Given the description of an element on the screen output the (x, y) to click on. 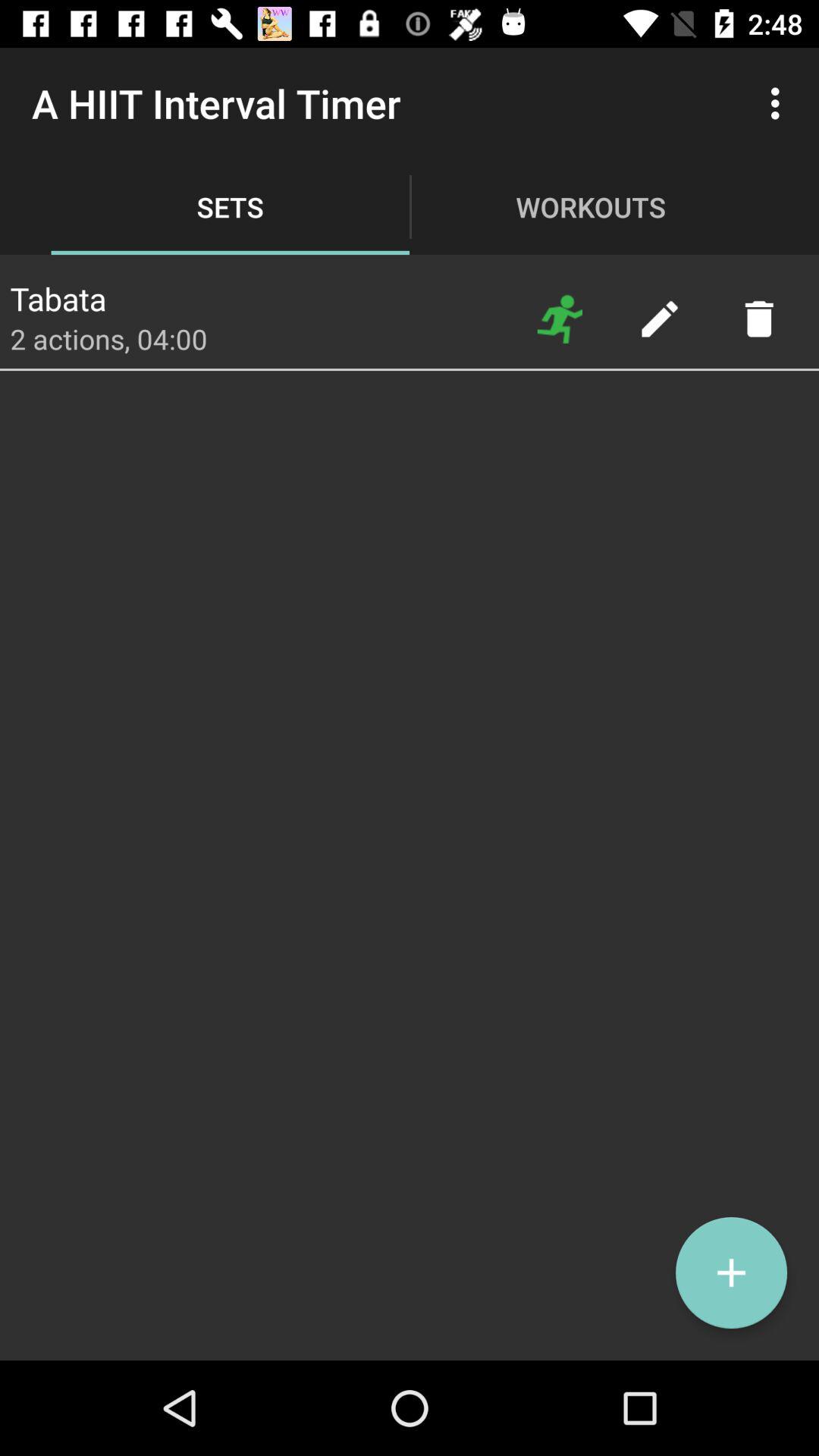
see workouts (559, 318)
